Given the description of an element on the screen output the (x, y) to click on. 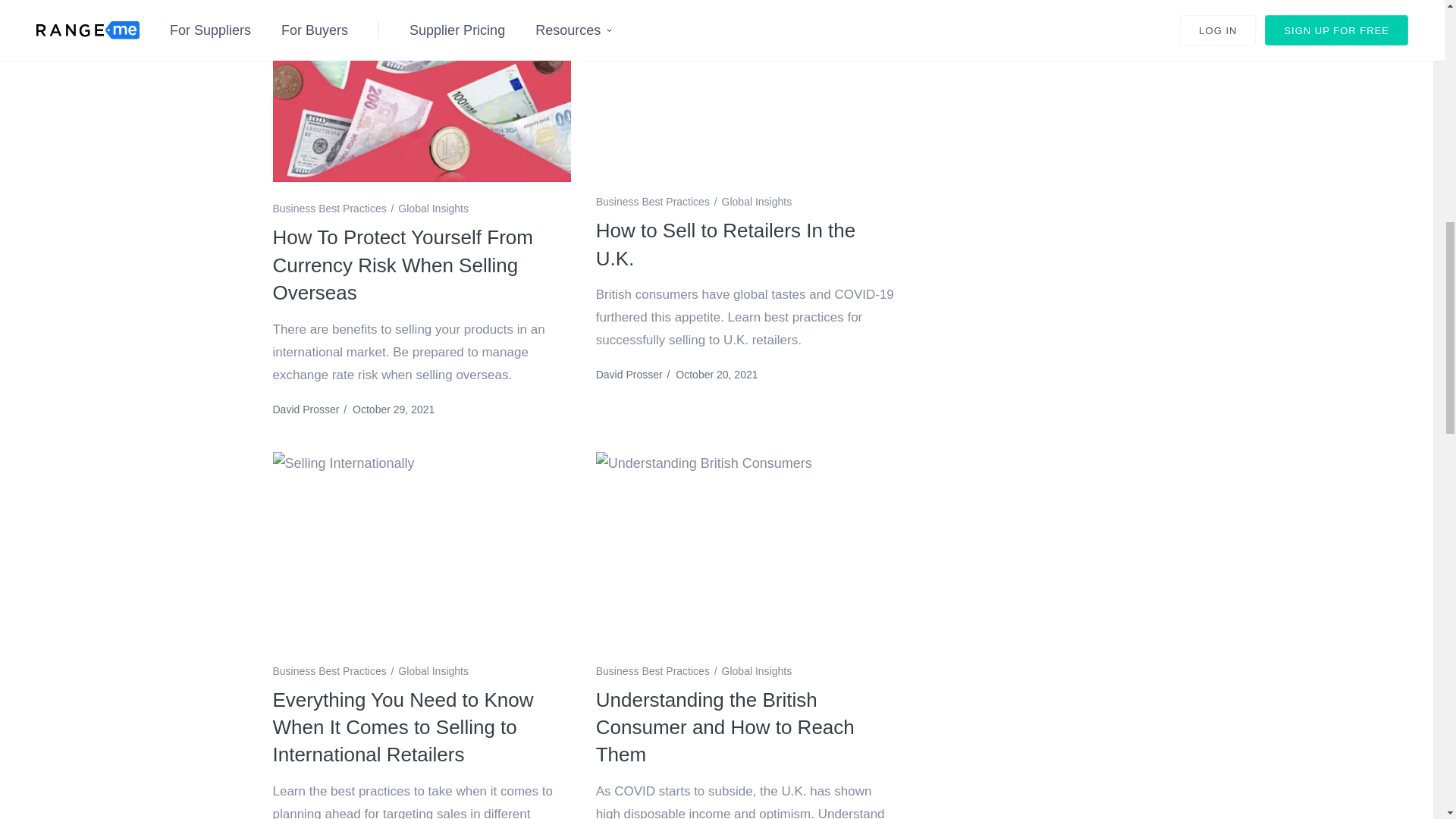
Posts by David Prosser (628, 374)
How to Sell to Retailers In the U.K. (744, 90)
Understanding the British Consumer and How to Reach Them (744, 551)
Posts by David Prosser (306, 409)
